Given the description of an element on the screen output the (x, y) to click on. 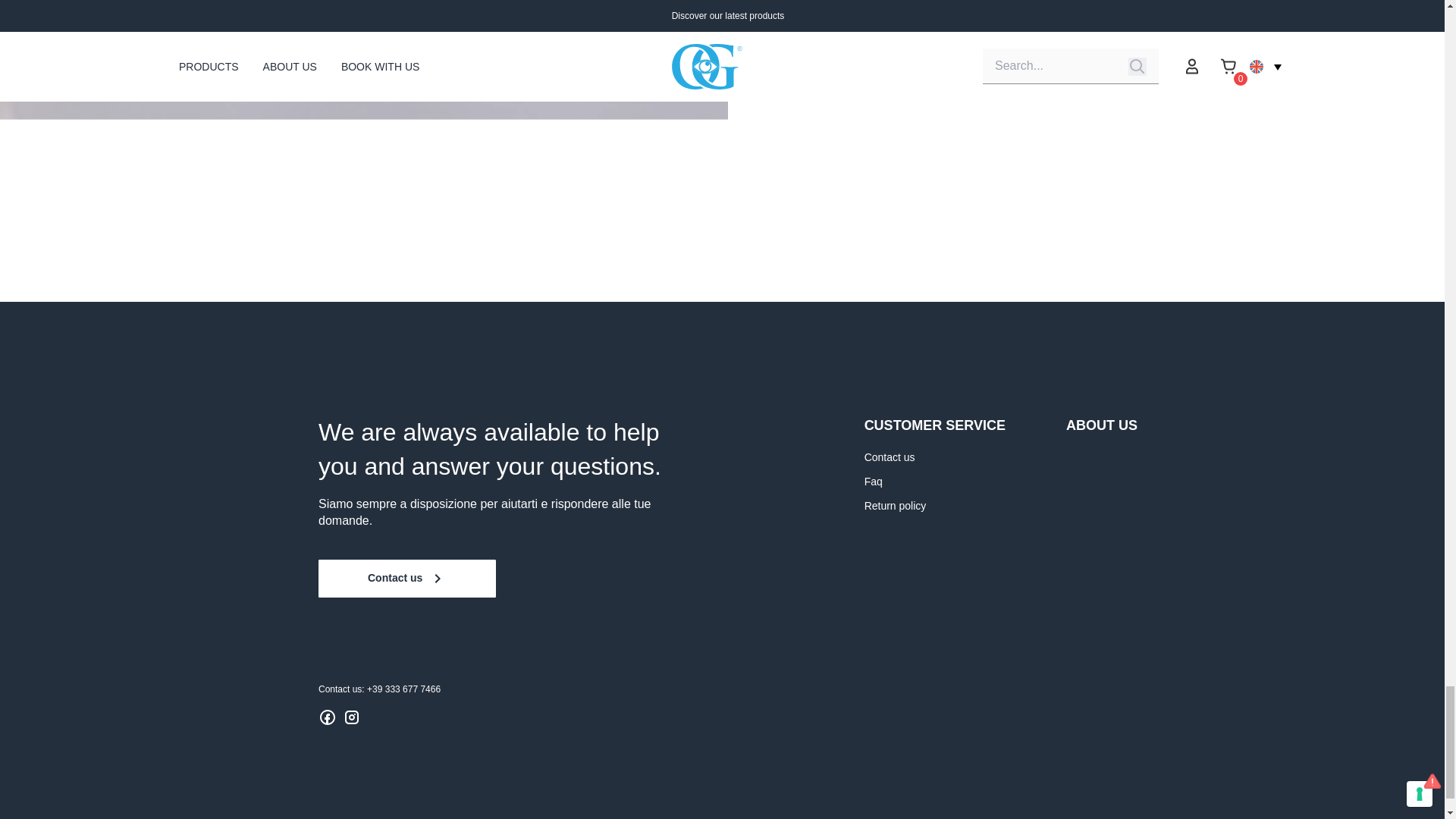
Contact us (407, 578)
Faq (873, 481)
Contact us (889, 457)
Return policy (895, 505)
